Given the description of an element on the screen output the (x, y) to click on. 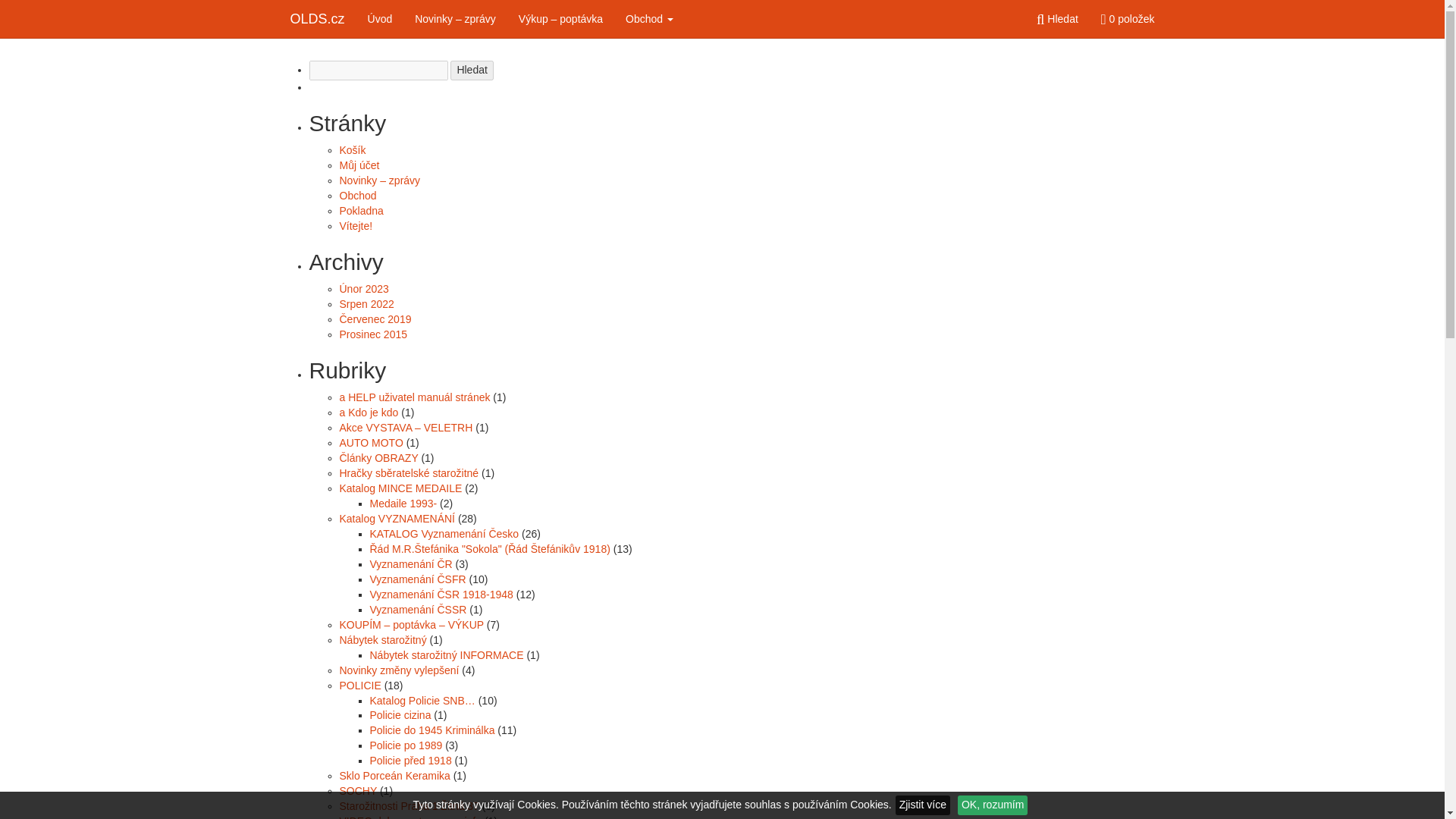
Prosinec 2015 (373, 334)
a Kdo je kdo (368, 412)
Obchod (358, 195)
Obchod (649, 18)
Pokladna (361, 210)
Obchod (649, 18)
Hledat (1057, 18)
Katalog MINCE MEDAILE (401, 488)
Medaile 1993- (403, 503)
Hledat (471, 70)
Hledat (471, 70)
Srpen 2022 (366, 304)
OLDS.cz (317, 18)
AUTO MOTO (371, 442)
